Given the description of an element on the screen output the (x, y) to click on. 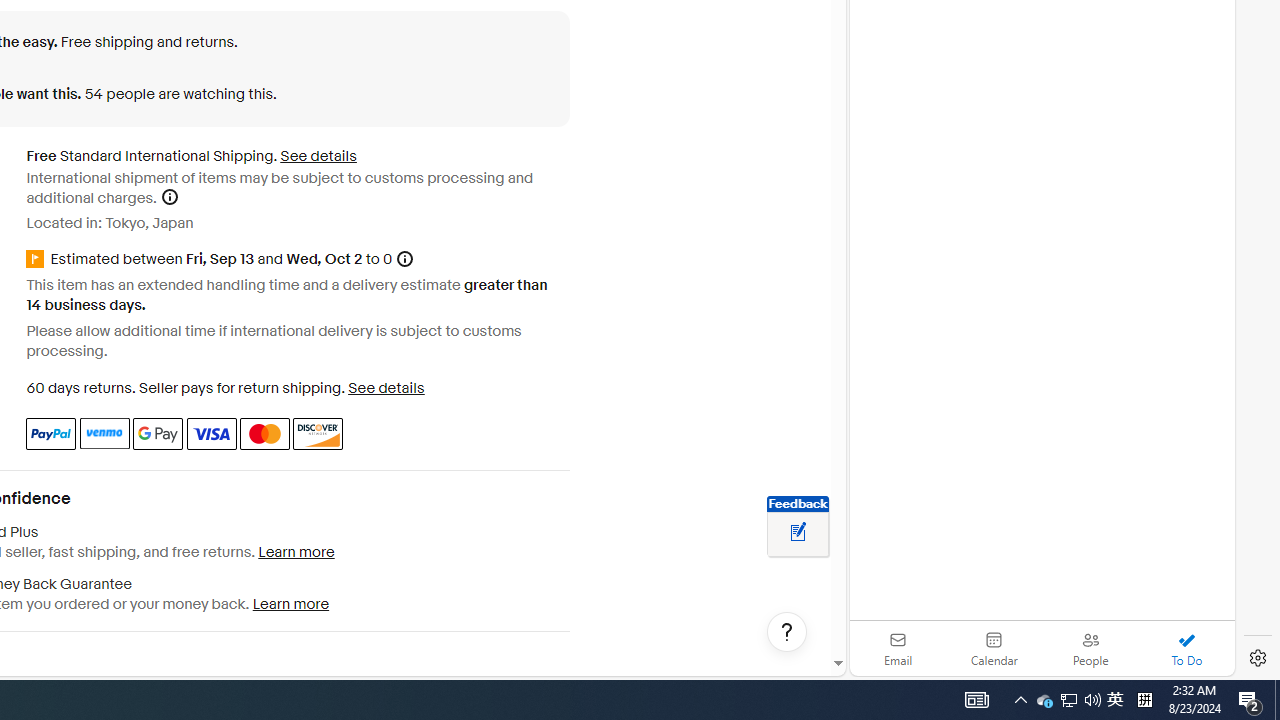
Shipping help - opens a layer (169, 196)
Learn more - Top Rated Plus - opens in a new window or tab (296, 552)
See details - for more information about returns (386, 388)
Venmo (104, 433)
To Do (1186, 648)
Leave feedback about your eBay ViewItem experience (797, 533)
